Given the description of an element on the screen output the (x, y) to click on. 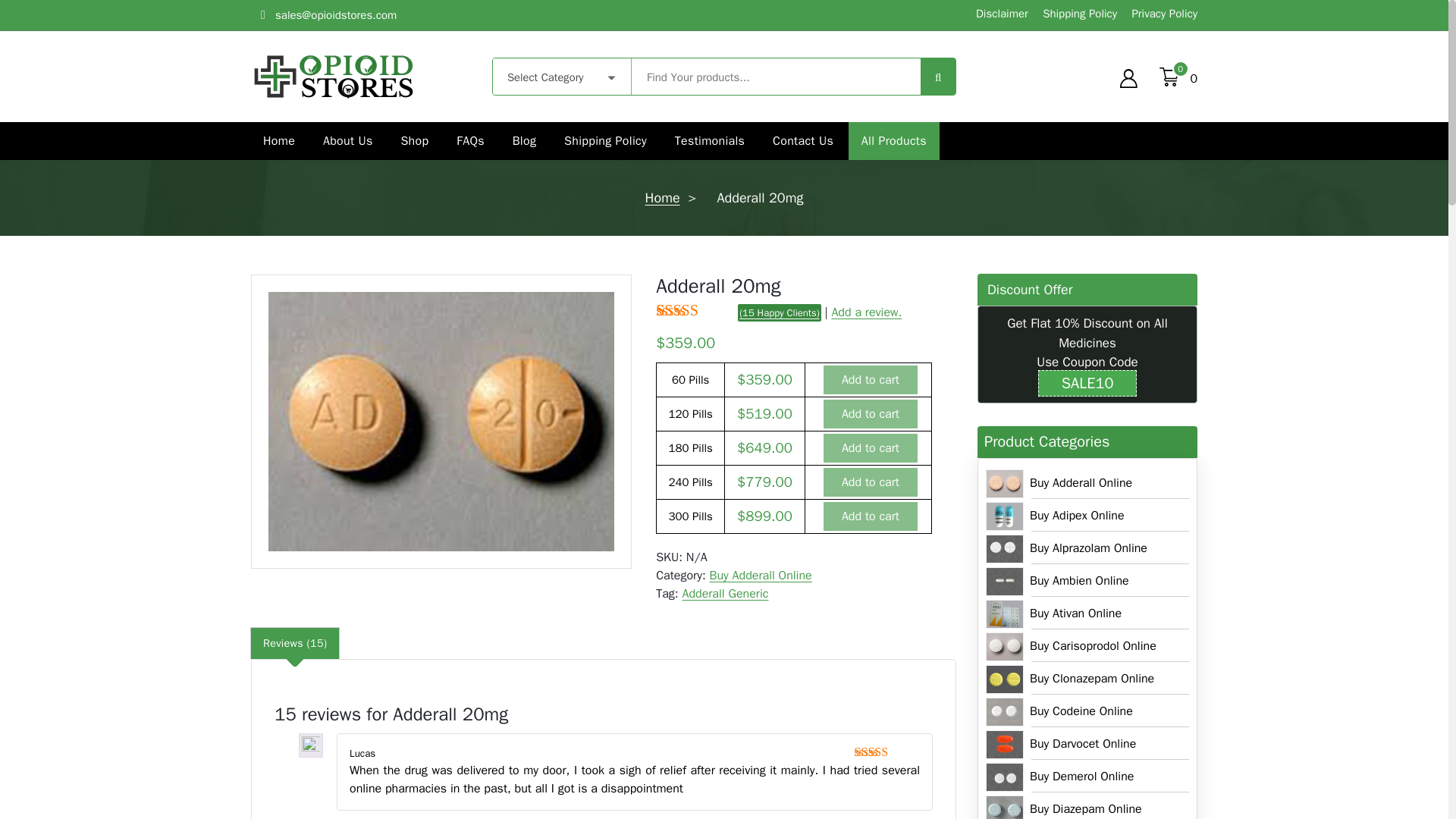
Home (278, 140)
All Products (893, 140)
Blog (524, 140)
Add to cart (870, 413)
Add to cart (870, 448)
Disclaimer (999, 13)
About Us (347, 140)
Contact Us (802, 140)
Add a review. (866, 312)
Privacy Policy (1162, 13)
